Given the description of an element on the screen output the (x, y) to click on. 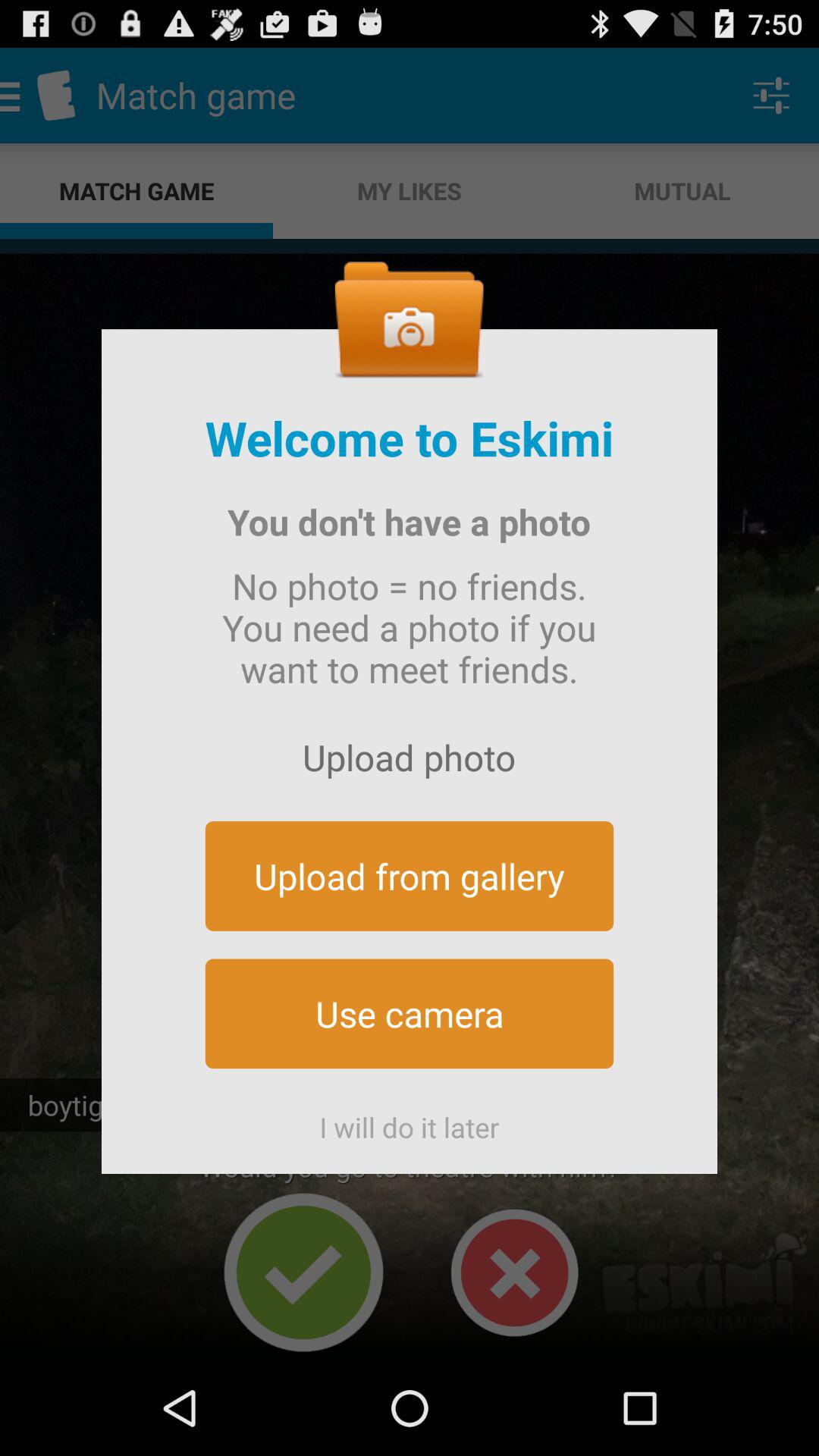
click upload from gallery icon (409, 876)
